Given the description of an element on the screen output the (x, y) to click on. 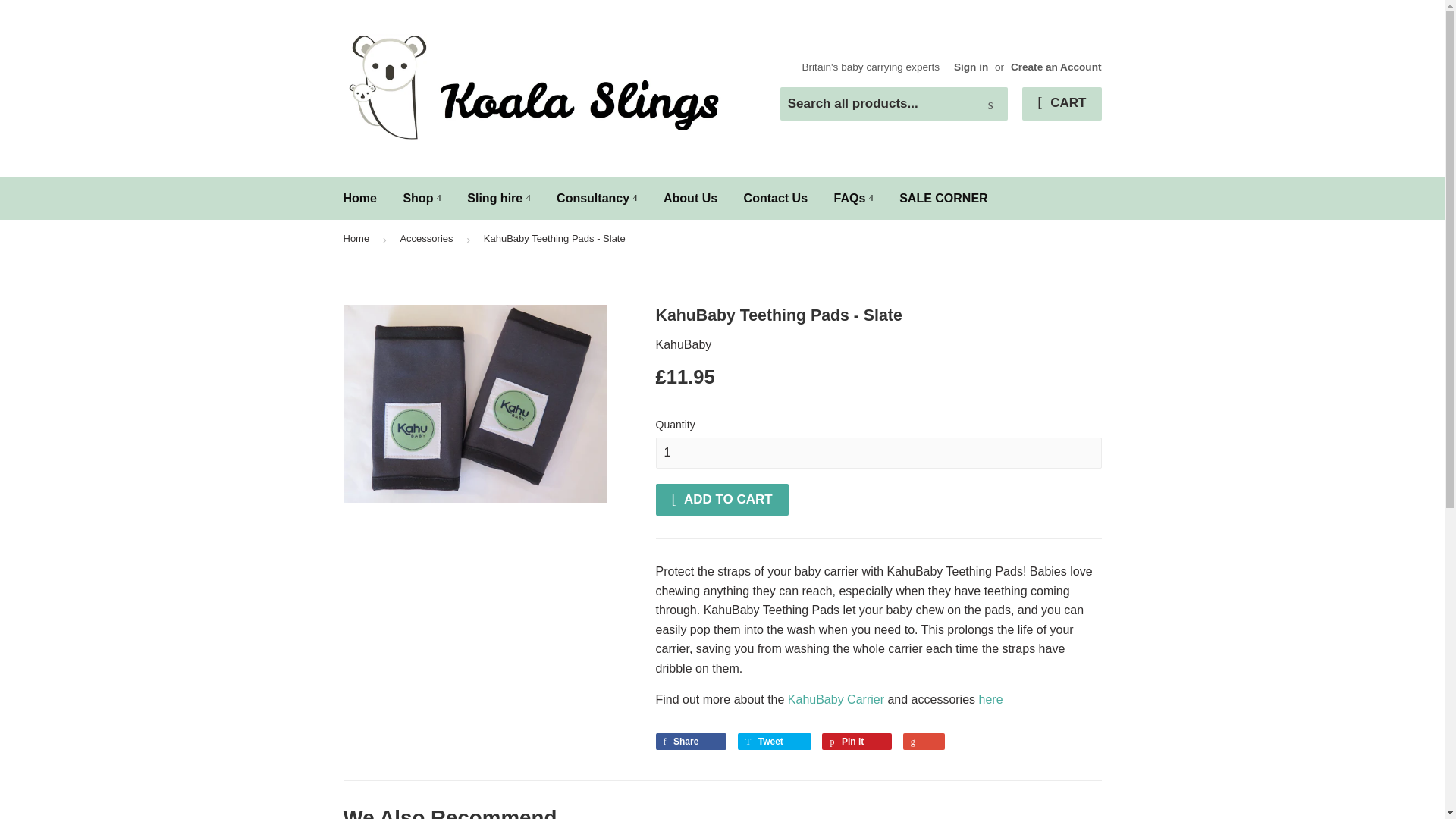
About Us (690, 198)
1 (877, 452)
Sign in (970, 66)
Sling hire (498, 198)
Accessories (428, 239)
Shop (421, 198)
Create an Account (1056, 66)
Consultancy (595, 198)
Simple togetherness when you buy you KahuBaby Carrier (835, 698)
Home (359, 198)
